Given the description of an element on the screen output the (x, y) to click on. 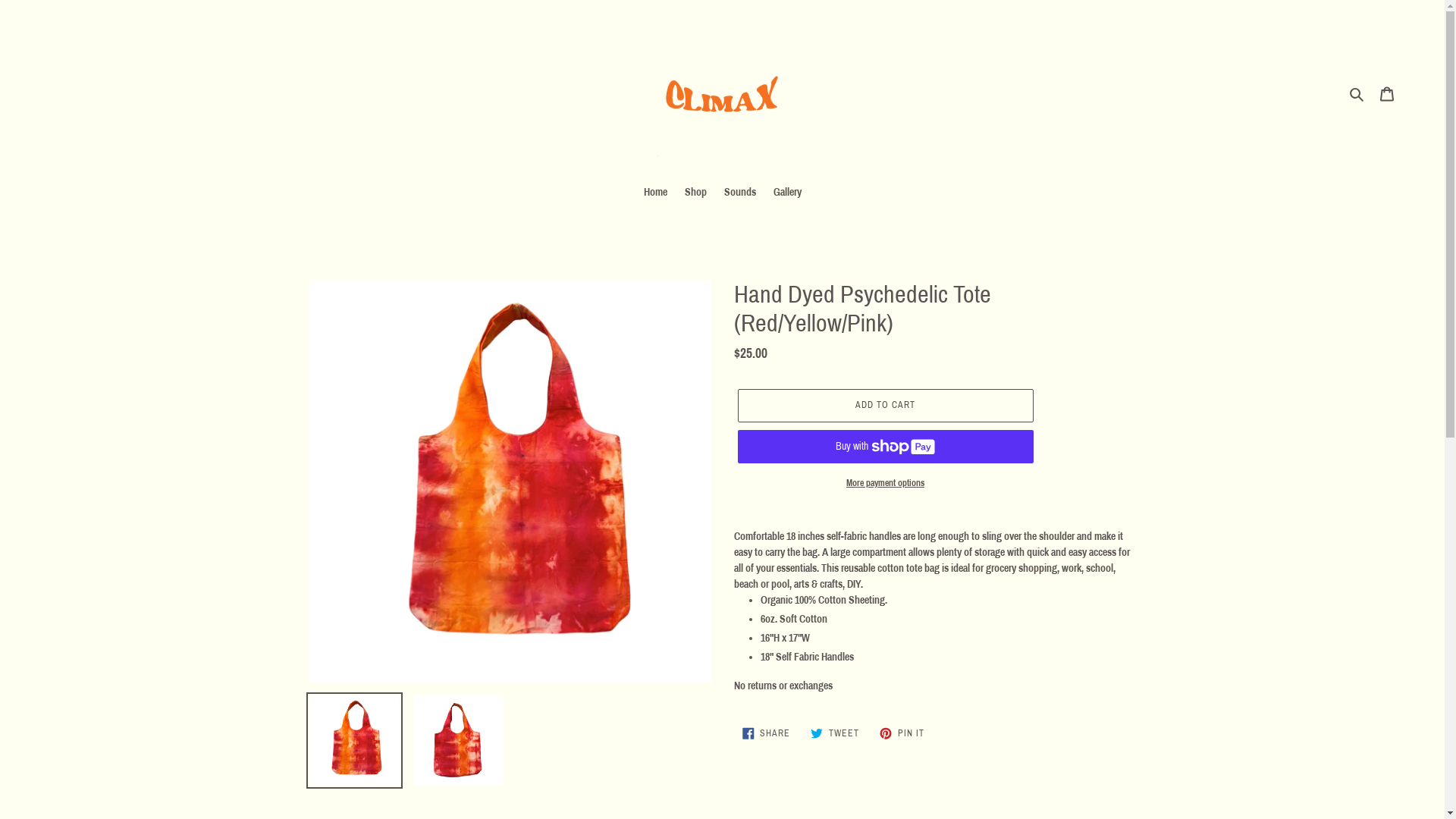
Search Element type: text (1357, 93)
Sounds Element type: text (738, 192)
SHARE
SHARE ON FACEBOOK Element type: text (766, 733)
PIN IT
PIN ON PINTEREST Element type: text (901, 733)
ADD TO CART Element type: text (884, 405)
Gallery Element type: text (787, 192)
Home Element type: text (654, 192)
TWEET
TWEET ON TWITTER Element type: text (834, 733)
Shop Element type: text (694, 192)
Cart Element type: text (1386, 93)
More payment options Element type: text (884, 482)
